Given the description of an element on the screen output the (x, y) to click on. 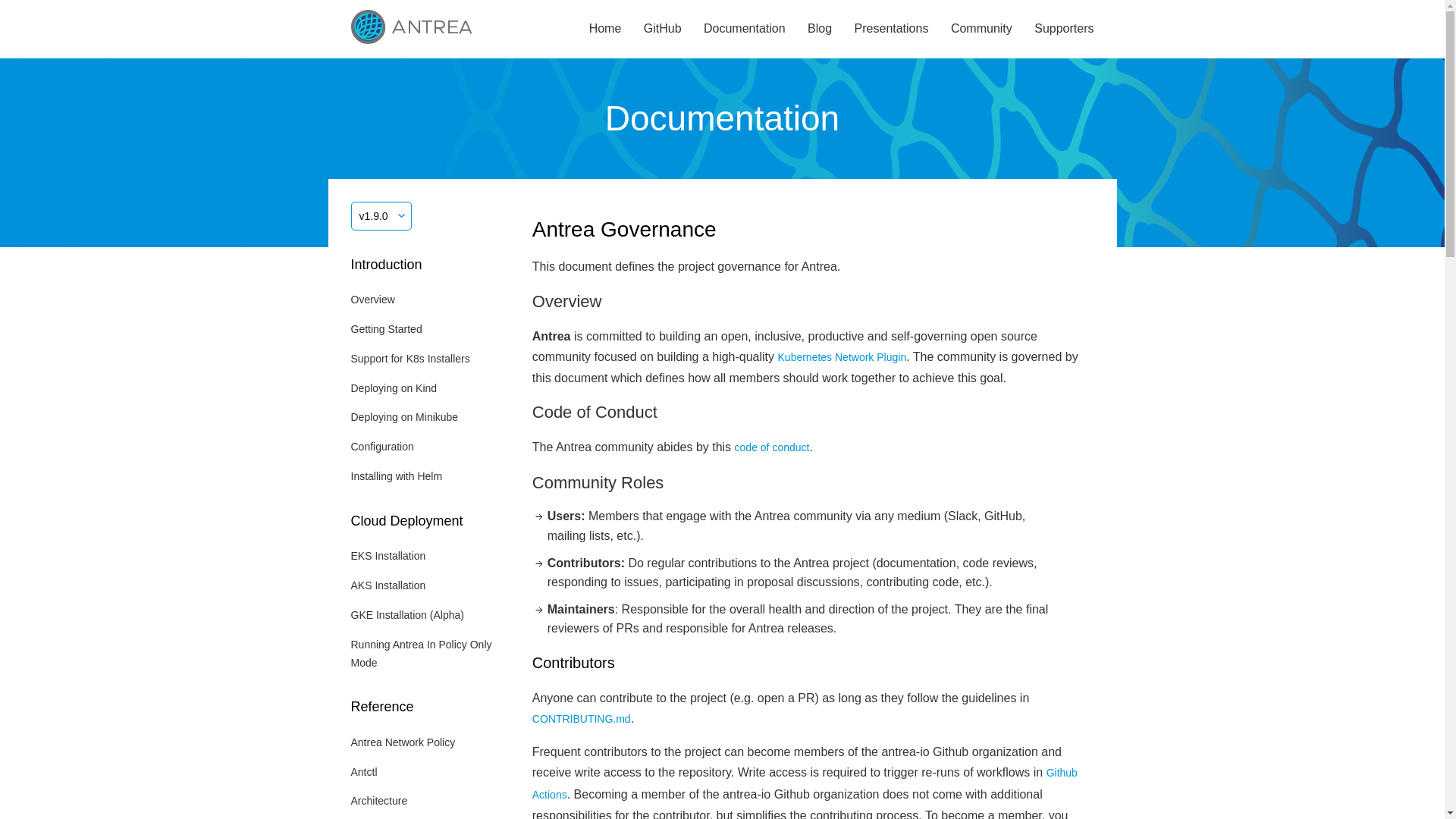
Presentations (891, 28)
Supporters (1063, 28)
Blog (819, 28)
Documentation (744, 28)
GitHub (662, 28)
v1.9.0 (380, 215)
Home (605, 28)
Community (980, 28)
